Given the description of an element on the screen output the (x, y) to click on. 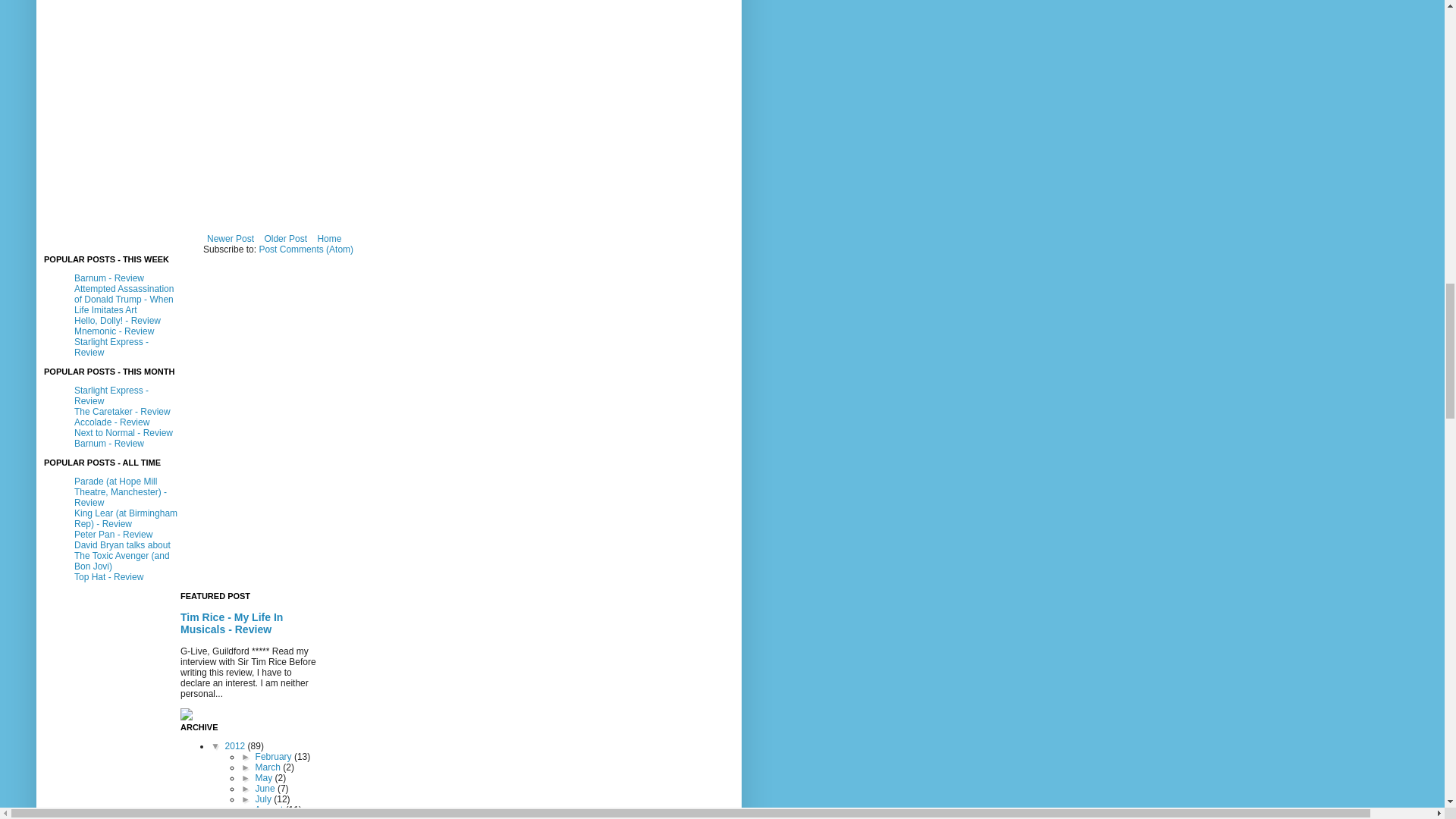
Older Post (285, 239)
Older Post (285, 239)
Starlight Express - Review (111, 346)
Home (329, 239)
Newer Post (230, 239)
Hello, Dolly! - Review (117, 320)
Mnemonic - Review (114, 330)
Newer Post (230, 239)
Barnum - Review (109, 277)
